Given the description of an element on the screen output the (x, y) to click on. 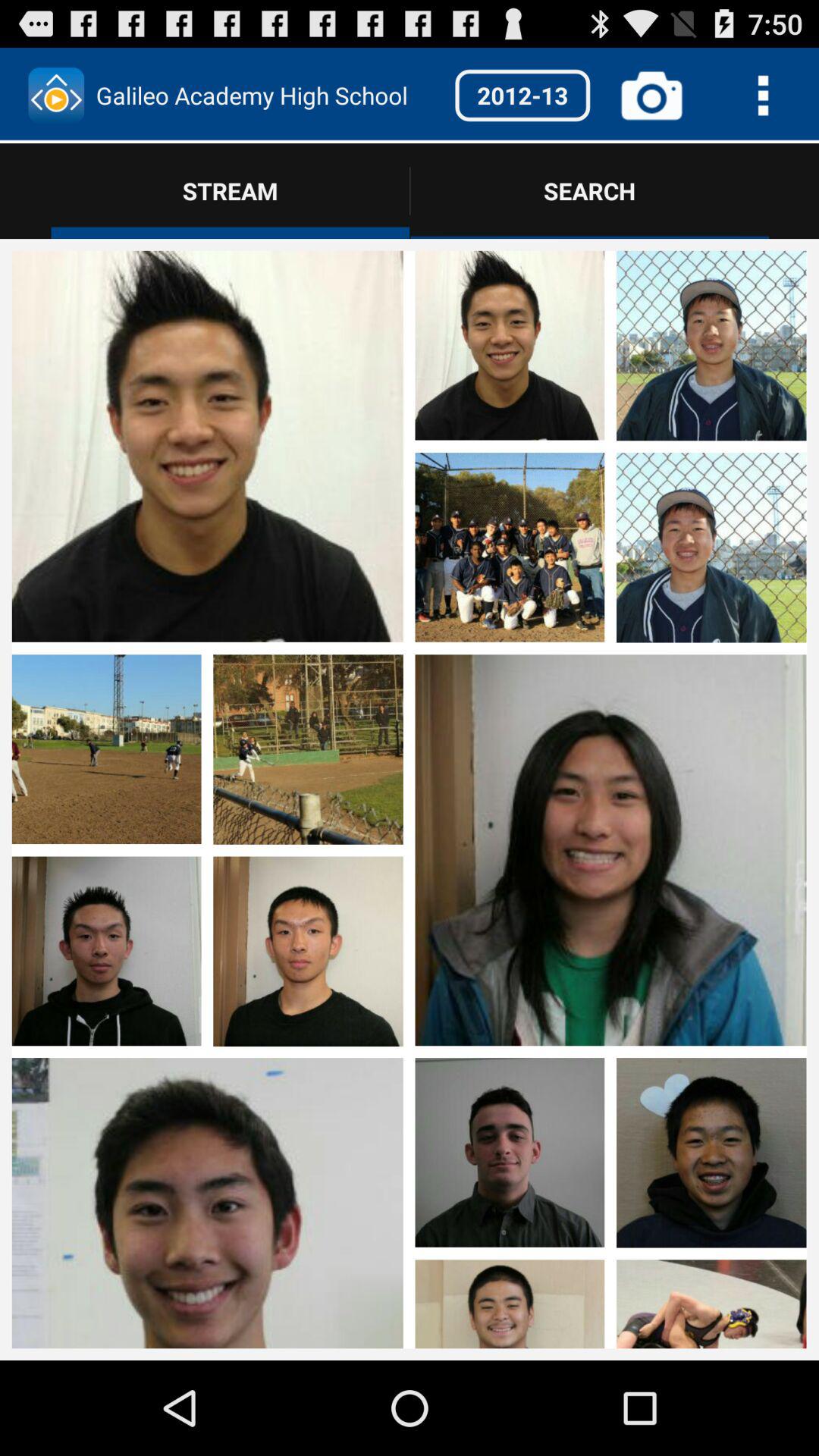
open photo album (207, 851)
